Given the description of an element on the screen output the (x, y) to click on. 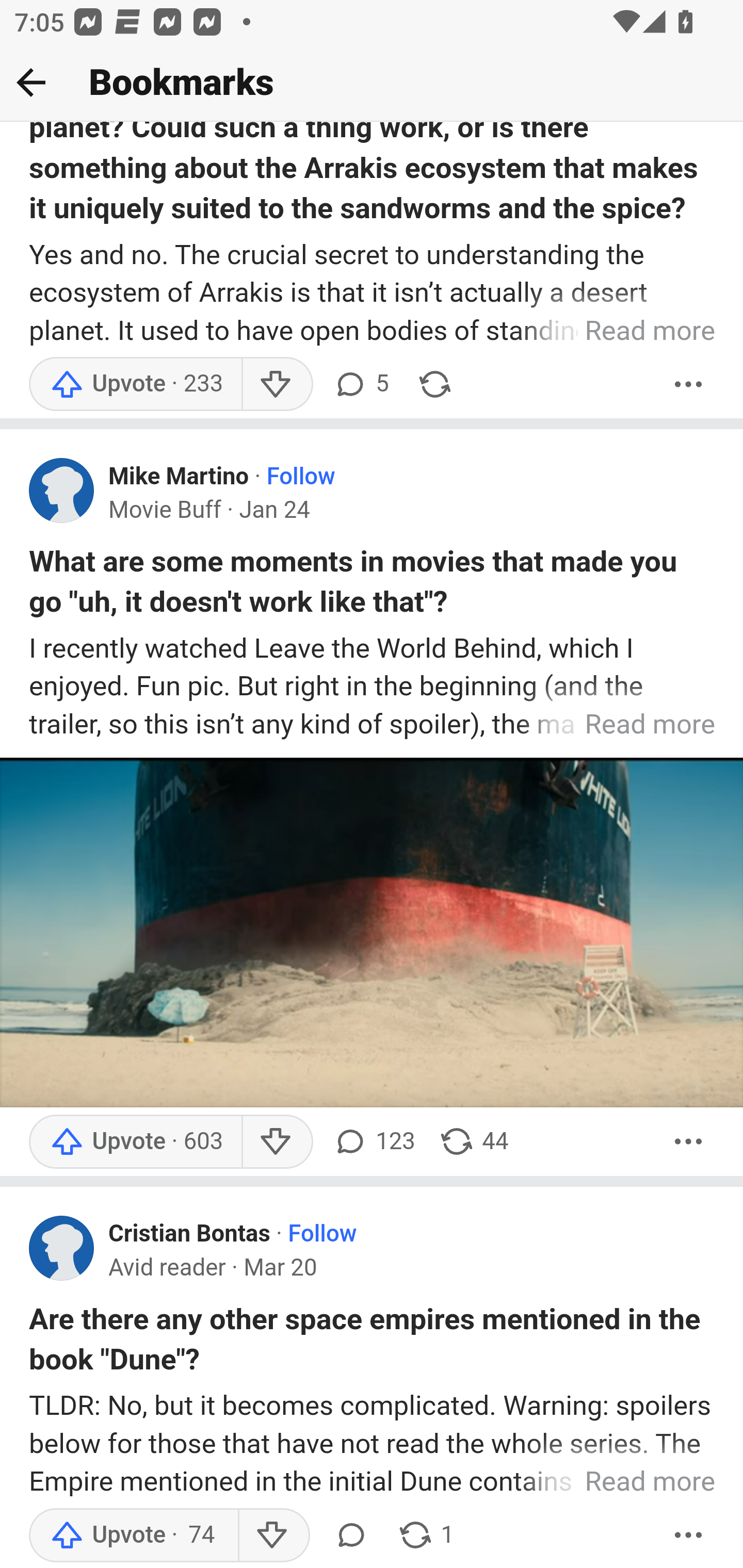
Me Home Search Add (371, 82)
Back (30, 82)
Upvote (135, 385)
Downvote (277, 385)
5 comments (360, 385)
Share (434, 385)
More (688, 385)
Profile photo for Mike Martino (61, 492)
Mike Martino (178, 477)
Follow (300, 477)
Jan 24 (274, 512)
Upvote (135, 1141)
Downvote (277, 1141)
123 comments (373, 1141)
44 shares (473, 1141)
More (688, 1141)
Profile photo for Cristian Bontas (61, 1248)
Cristian Bontas (189, 1235)
Follow (321, 1235)
Mar 20 (280, 1269)
Upvote (133, 1535)
Downvote (273, 1535)
Comment (350, 1535)
1 share (425, 1535)
More (688, 1535)
